Given the description of an element on the screen output the (x, y) to click on. 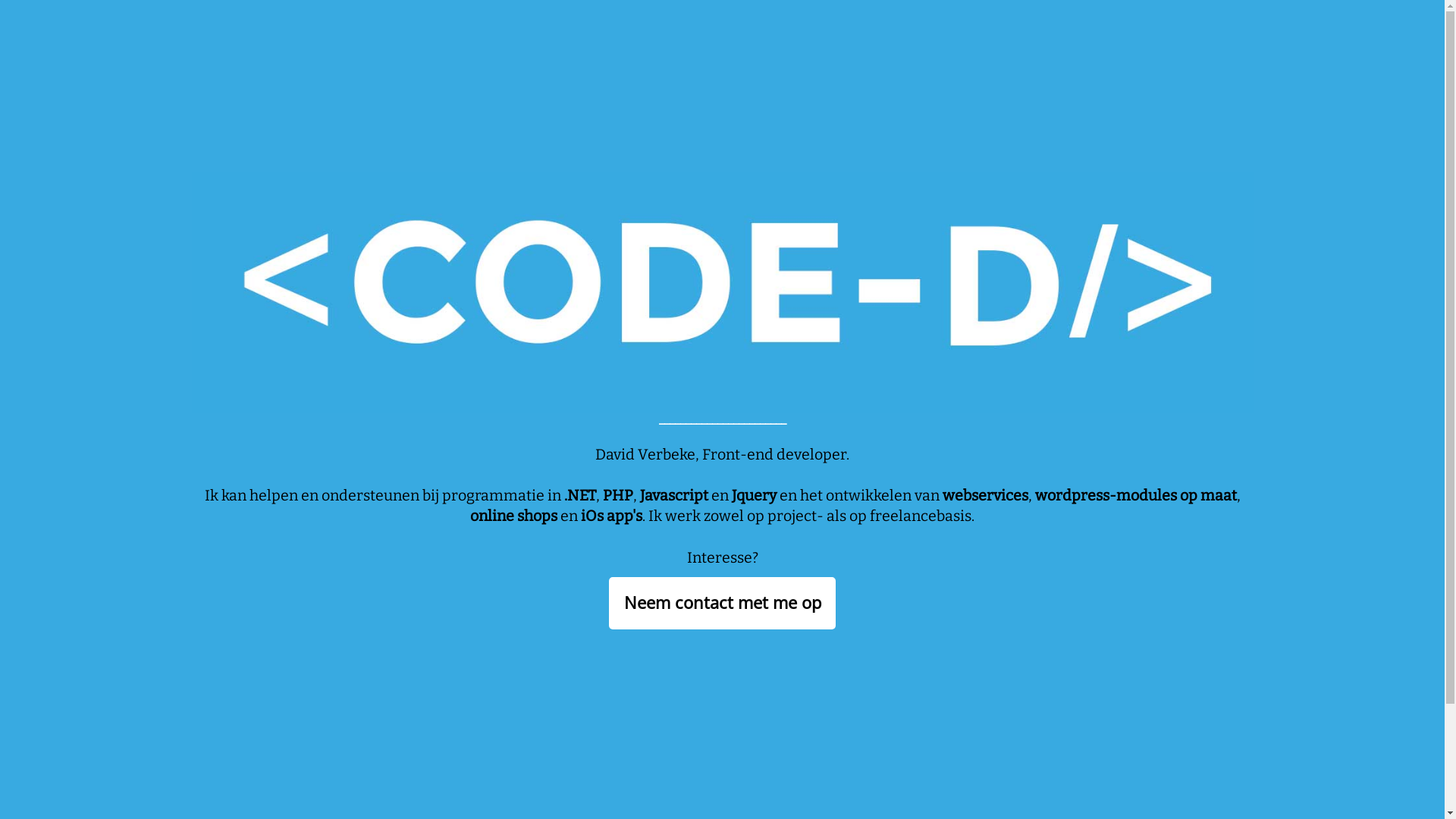
Neem contact met me op Element type: text (721, 603)
